Given the description of an element on the screen output the (x, y) to click on. 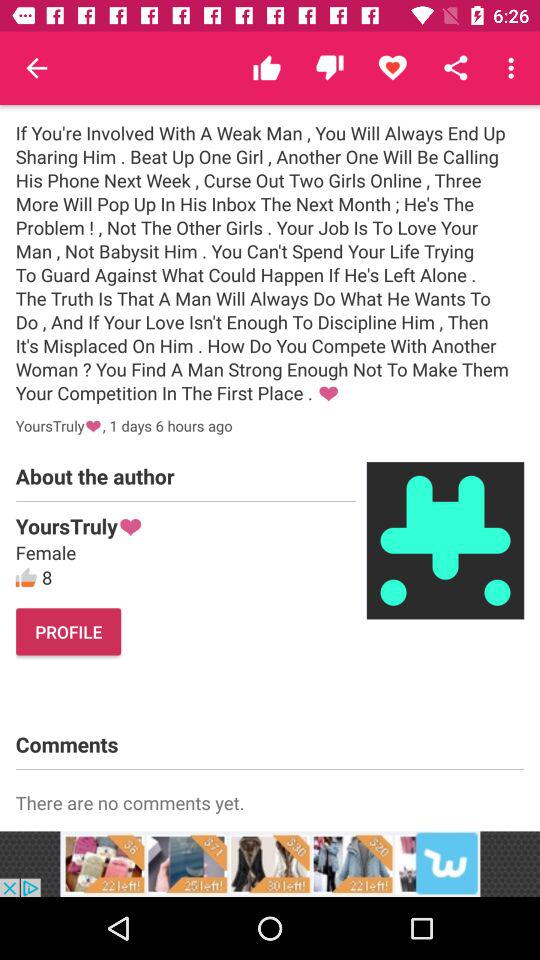
advertisement (270, 864)
